Given the description of an element on the screen output the (x, y) to click on. 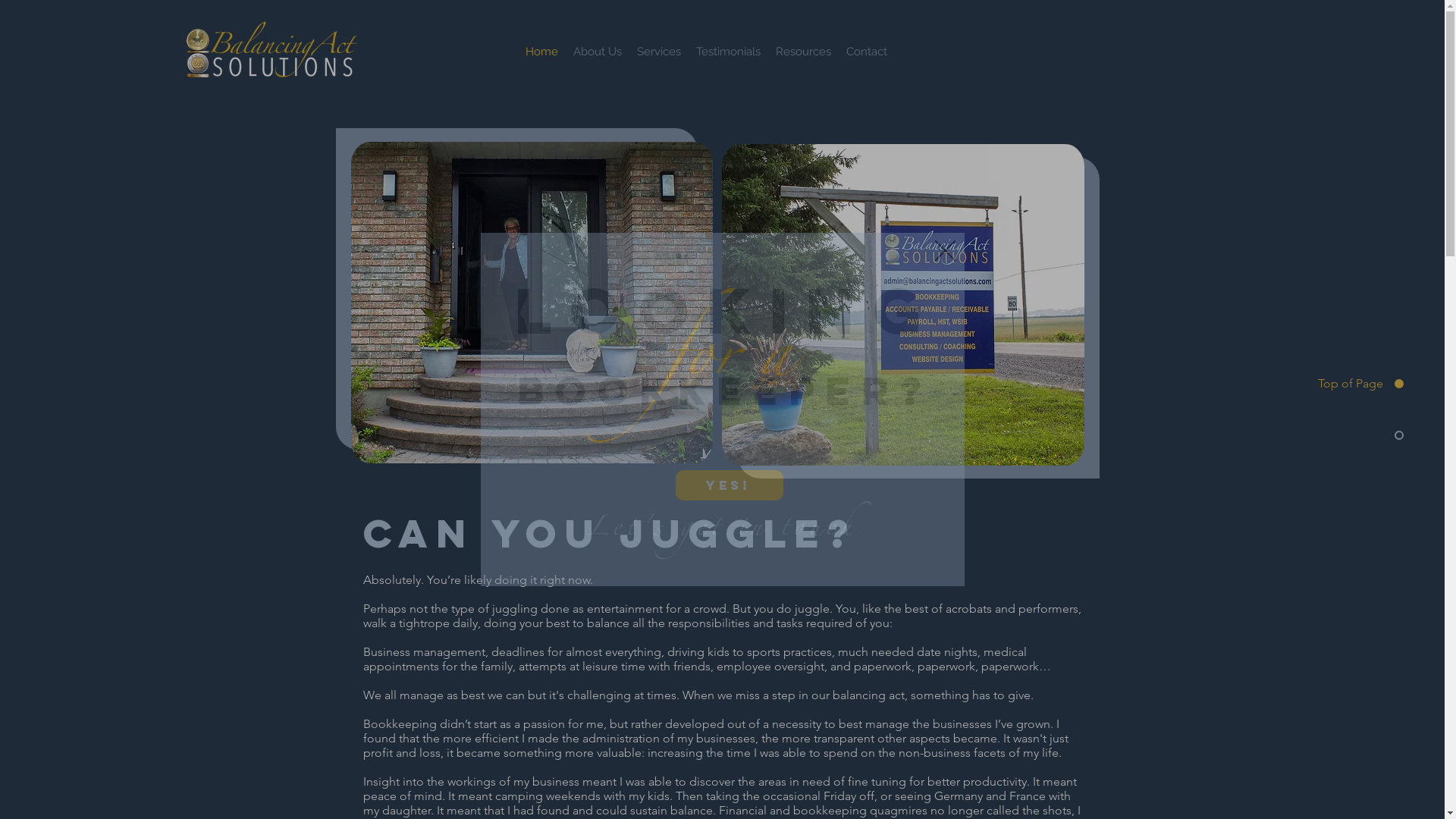
Back to site Element type: hover (944, 250)
Home Element type: text (541, 51)
Contact Element type: text (866, 51)
Testimonials Element type: text (728, 51)
About Us Element type: text (597, 51)
Top of Page Element type: text (1348, 383)
yes! Element type: text (728, 485)
Resources Element type: text (803, 51)
Services Element type: text (658, 51)
